Given the description of an element on the screen output the (x, y) to click on. 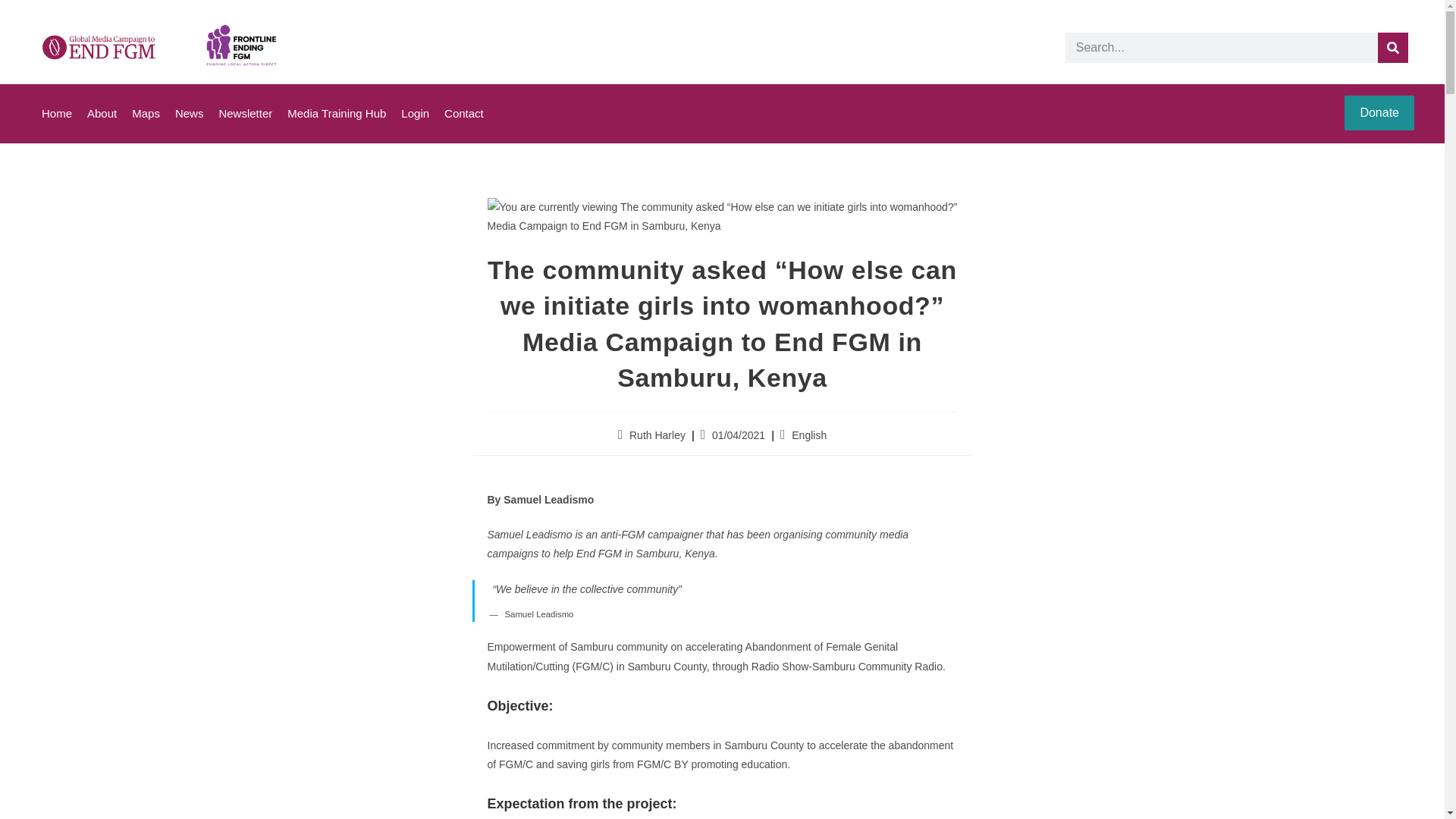
Media Training Hub (336, 113)
Newsletter (244, 113)
Contact (463, 113)
Home (56, 113)
Posts by Ruth Harley (656, 435)
